Given the description of an element on the screen output the (x, y) to click on. 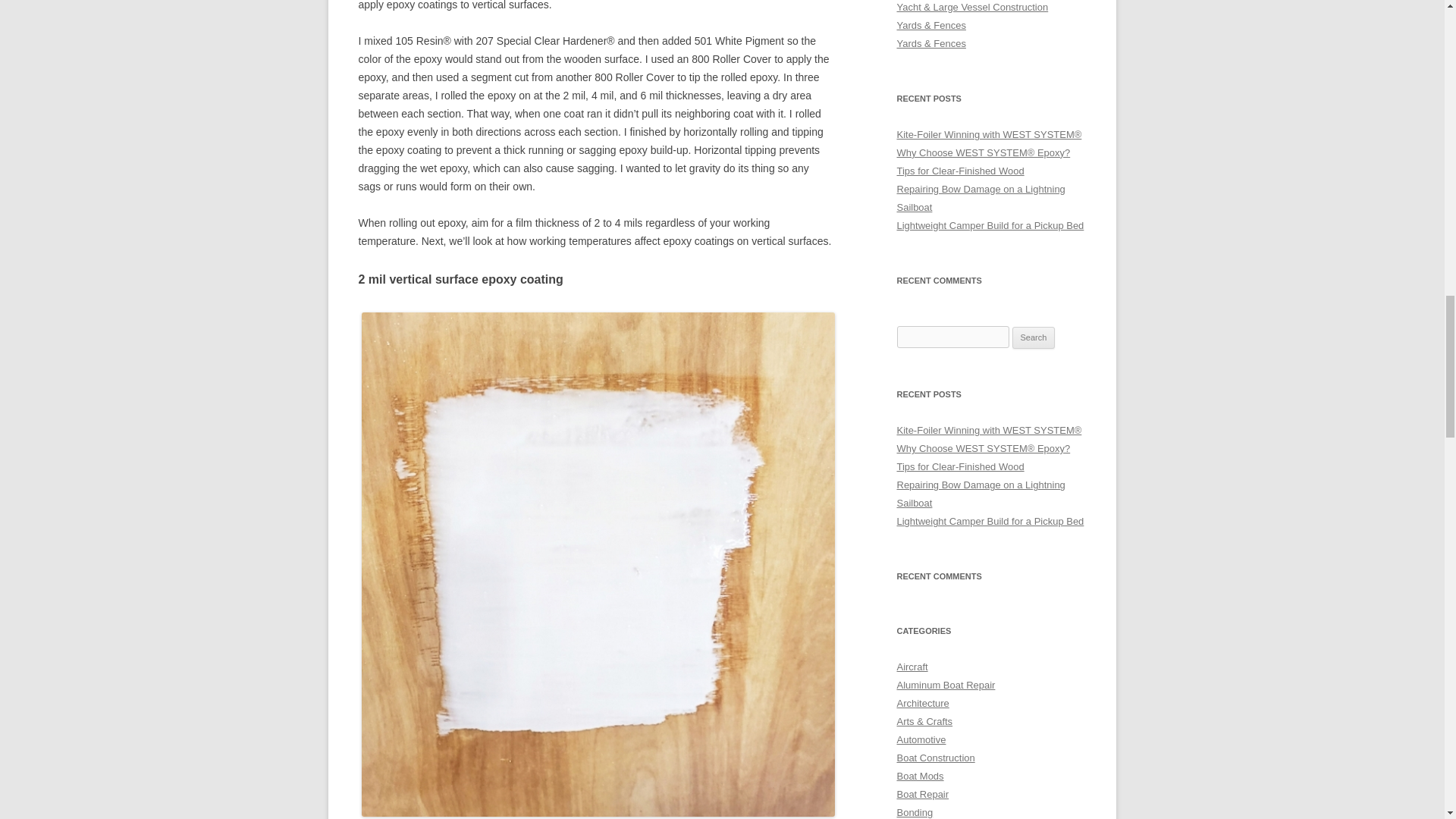
Search (1033, 337)
